Given the description of an element on the screen output the (x, y) to click on. 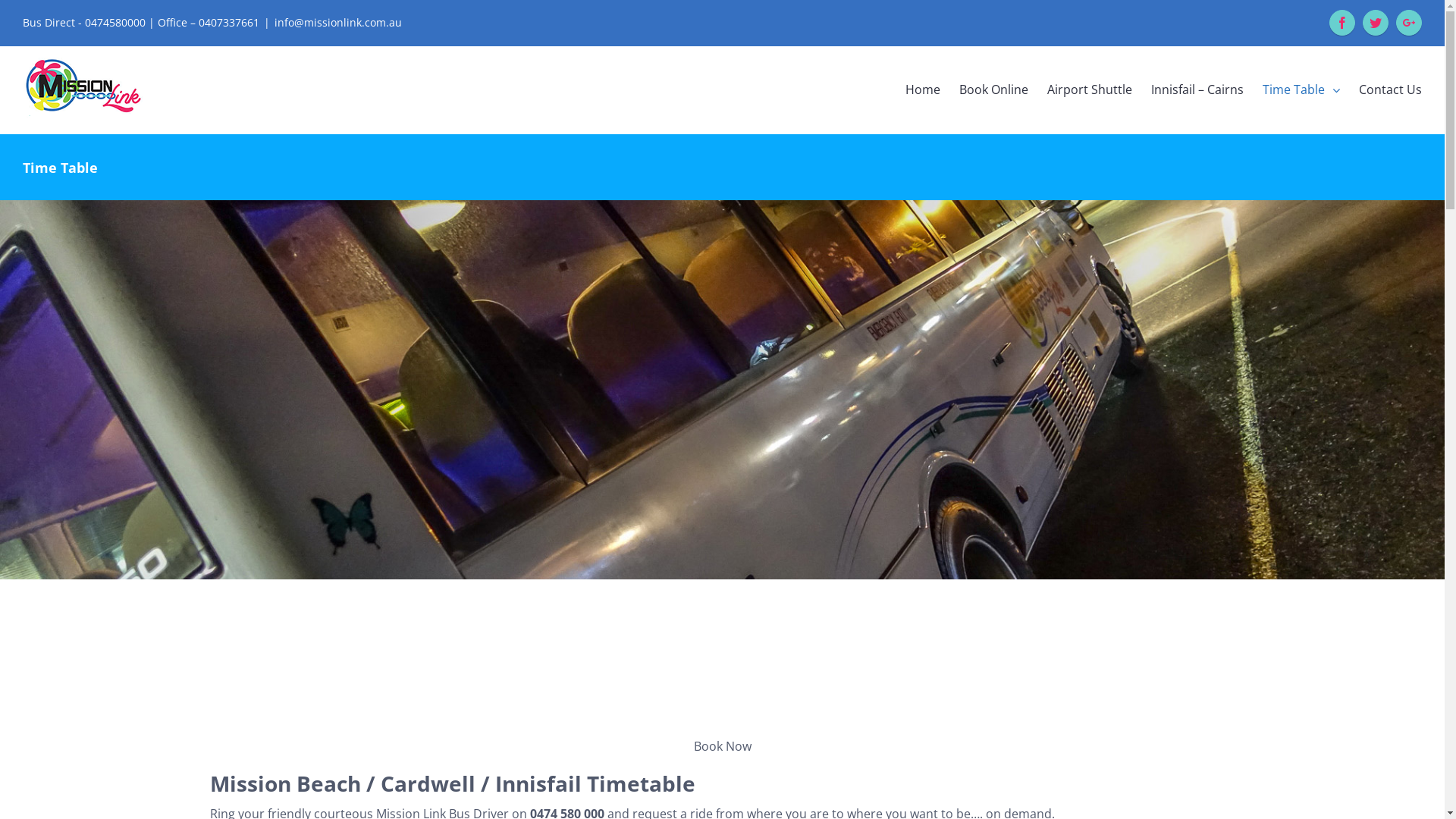
Book Online Element type: text (993, 89)
info@missionlink.com.au Element type: text (337, 22)
Home Element type: text (922, 89)
Time Table Element type: text (1300, 89)
Book Now Element type: text (721, 745)
Airport Shuttle Element type: text (1089, 89)
Contact Us Element type: text (1389, 89)
